Given the description of an element on the screen output the (x, y) to click on. 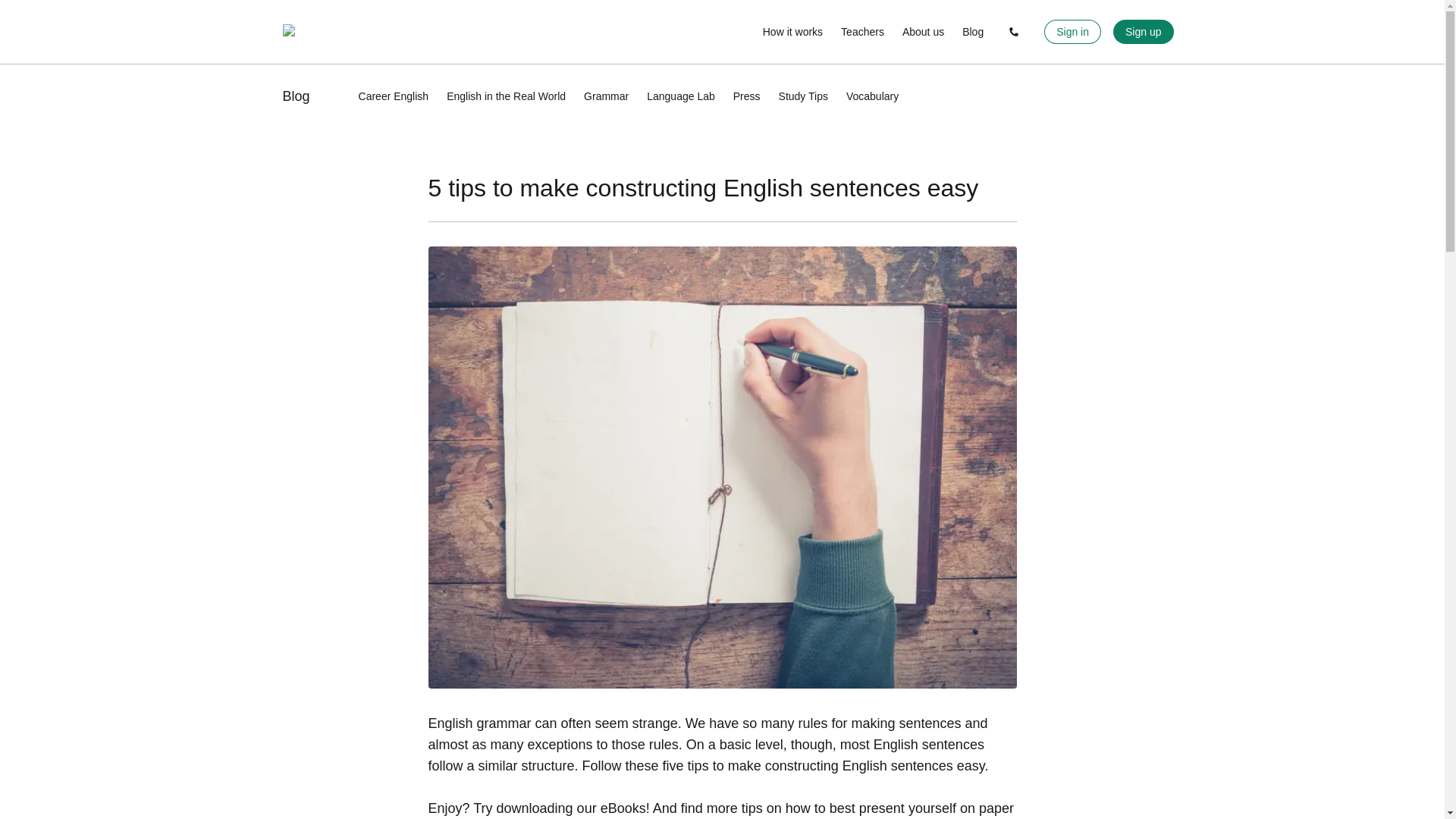
Blog (295, 96)
About us (922, 32)
Blog (973, 32)
Career English (393, 95)
Press (746, 95)
Sign in (1071, 31)
Language Lab (680, 95)
Sign up (1143, 31)
Vocabulary (871, 95)
Teachers (862, 32)
English in the Real World (506, 95)
Grammar (605, 95)
Study Tips (803, 95)
How it works (792, 32)
